Given the description of an element on the screen output the (x, y) to click on. 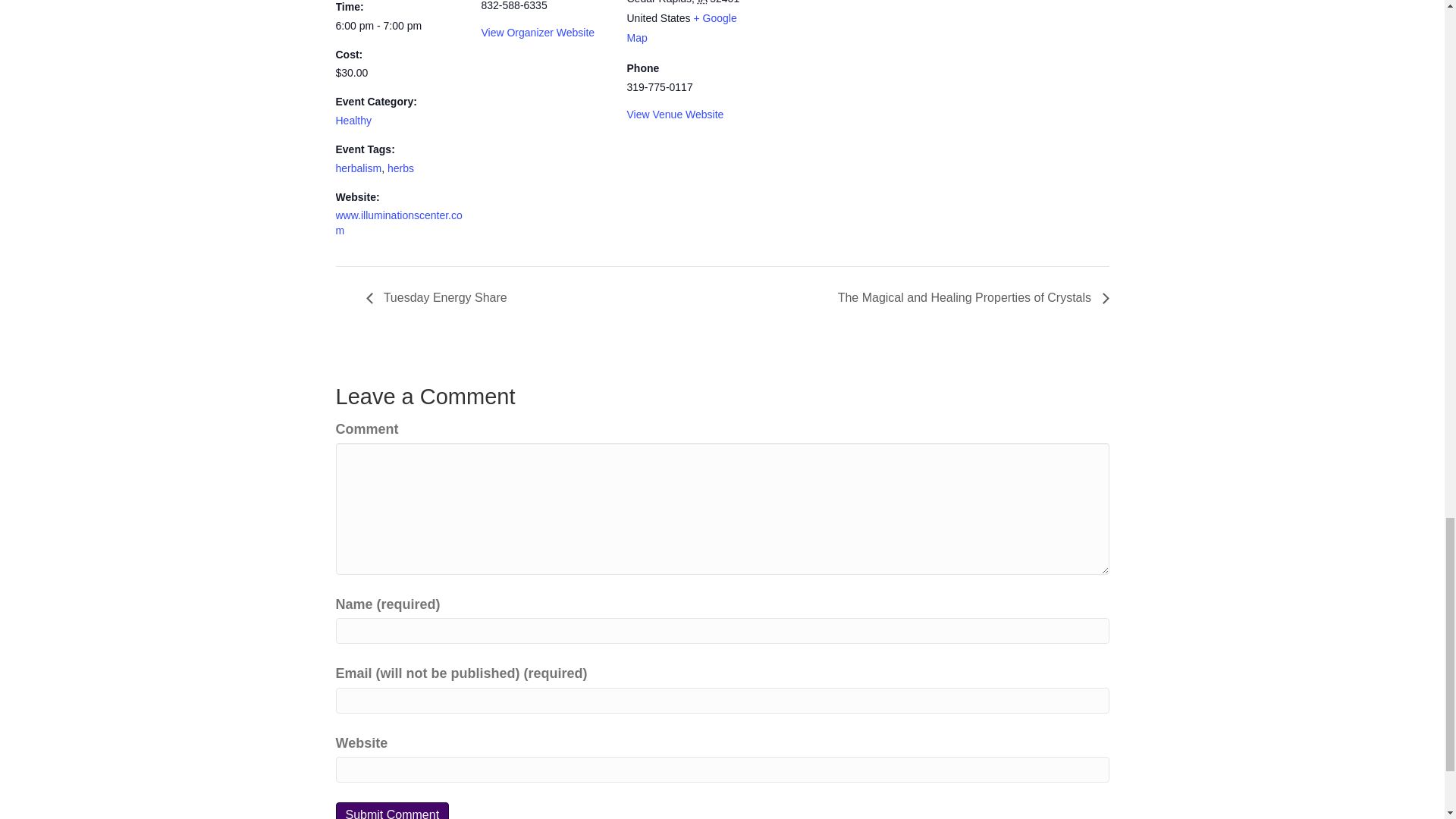
Healthy (352, 120)
Click to view a Google Map (681, 28)
herbs (400, 168)
herbalism (357, 168)
2018-05-23 (398, 26)
Iowa (701, 2)
Submit Comment (391, 810)
